Given the description of an element on the screen output the (x, y) to click on. 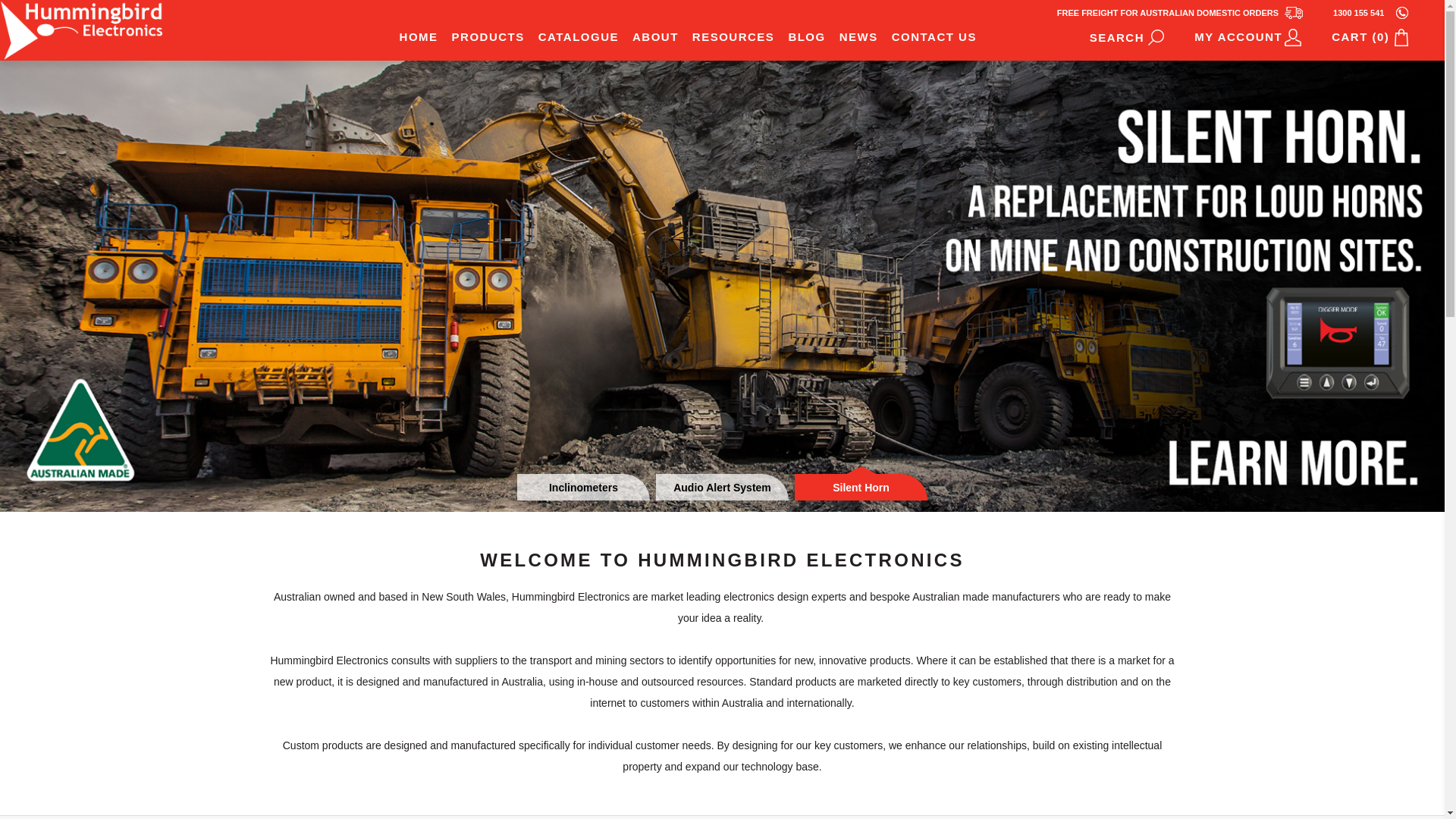
PRODUCTS Element type: text (487, 35)
Silent Horn Element type: text (860, 486)
Inclinometers Element type: text (583, 486)
CONTACT US Element type: text (933, 35)
CART (0) Element type: text (1369, 36)
Search Element type: text (1156, 36)
NEWS Element type: text (858, 35)
CATALOGUE Element type: text (578, 35)
RESOURCES Element type: text (733, 35)
Add to compare list Element type: text (70, 18)
1300 155 541 Element type: text (1370, 12)
FREE FREIGHT FOR AUSTRALIAN DOMESTIC ORDERS Element type: text (1179, 12)
ABOUT Element type: text (655, 35)
Hummingbird Electronics Element type: hover (81, 30)
MY ACCOUNT Element type: text (1247, 36)
HOME Element type: text (418, 35)
Audio Alert System Element type: text (721, 486)
BLOG Element type: text (806, 35)
